Given the description of an element on the screen output the (x, y) to click on. 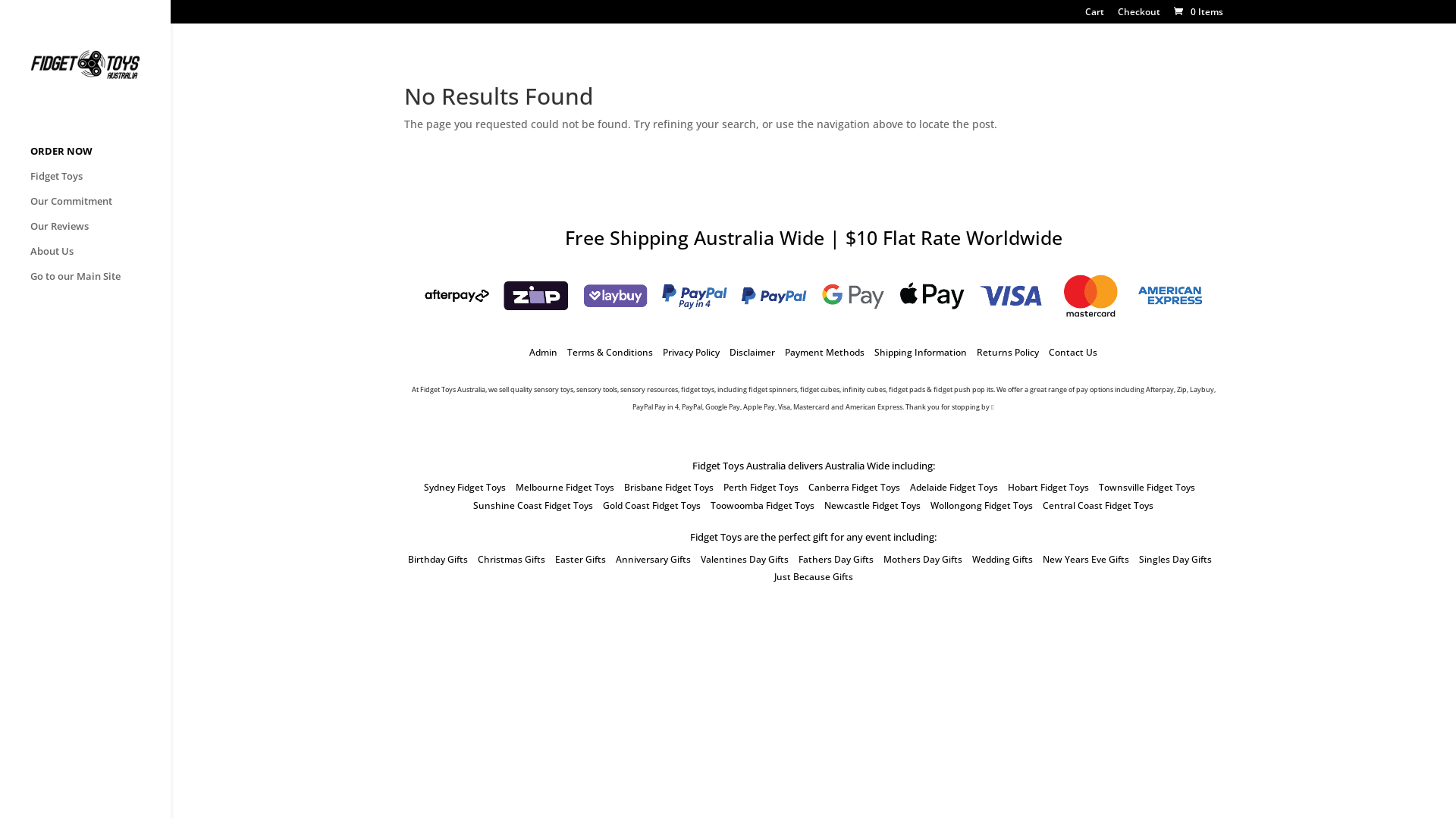
Returns Policy Element type: text (1007, 351)
Gold Coast Fidget Toys Element type: text (651, 504)
Shipping Information Element type: text (920, 351)
Payment Methods Element type: text (824, 351)
Christmas Gifts Element type: text (511, 558)
Hobart Fidget Toys Element type: text (1047, 486)
Valentines Day Gifts Element type: text (744, 558)
Fathers Day Gifts Element type: text (834, 558)
Sydney Fidget Toys Element type: text (464, 486)
Toowoomba Fidget Toys Element type: text (762, 504)
Townsville Fidget Toys Element type: text (1146, 486)
Our Reviews Element type: text (100, 232)
Admin Element type: text (543, 351)
Wollongong Fidget Toys Element type: text (981, 504)
Contact Us Element type: text (1072, 351)
Canberra Fidget Toys Element type: text (854, 486)
New Years Eve Gifts Element type: text (1084, 558)
Newcastle Fidget Toys Element type: text (872, 504)
Birthday Gifts Element type: text (437, 558)
Our Commitment Element type: text (100, 207)
Just Because Gifts Element type: text (812, 576)
Singles Day Gifts Element type: text (1175, 558)
Easter Gifts Element type: text (580, 558)
Wedding Gifts Element type: text (1002, 558)
ORDER NOW Element type: text (100, 157)
Melbourne Fidget Toys Element type: text (564, 486)
Anniversary Gifts Element type: text (652, 558)
Go to our Main Site Element type: text (100, 282)
Checkout Element type: text (1138, 15)
Terms & Conditions Element type: text (609, 351)
Adelaide Fidget Toys Element type: text (953, 486)
Disclaimer Element type: text (752, 351)
About Us Element type: text (100, 257)
Perth Fidget Toys Element type: text (760, 486)
Privacy Policy Element type: text (690, 351)
Fidget Toys Element type: text (100, 182)
Mothers Day Gifts Element type: text (921, 558)
Sunshine Coast Fidget Toys Element type: text (533, 504)
0 Items Element type: text (1196, 11)
Brisbane Fidget Toys Element type: text (668, 486)
Central Coast Fidget Toys Element type: text (1097, 504)
Cart Element type: text (1093, 15)
